Given the description of an element on the screen output the (x, y) to click on. 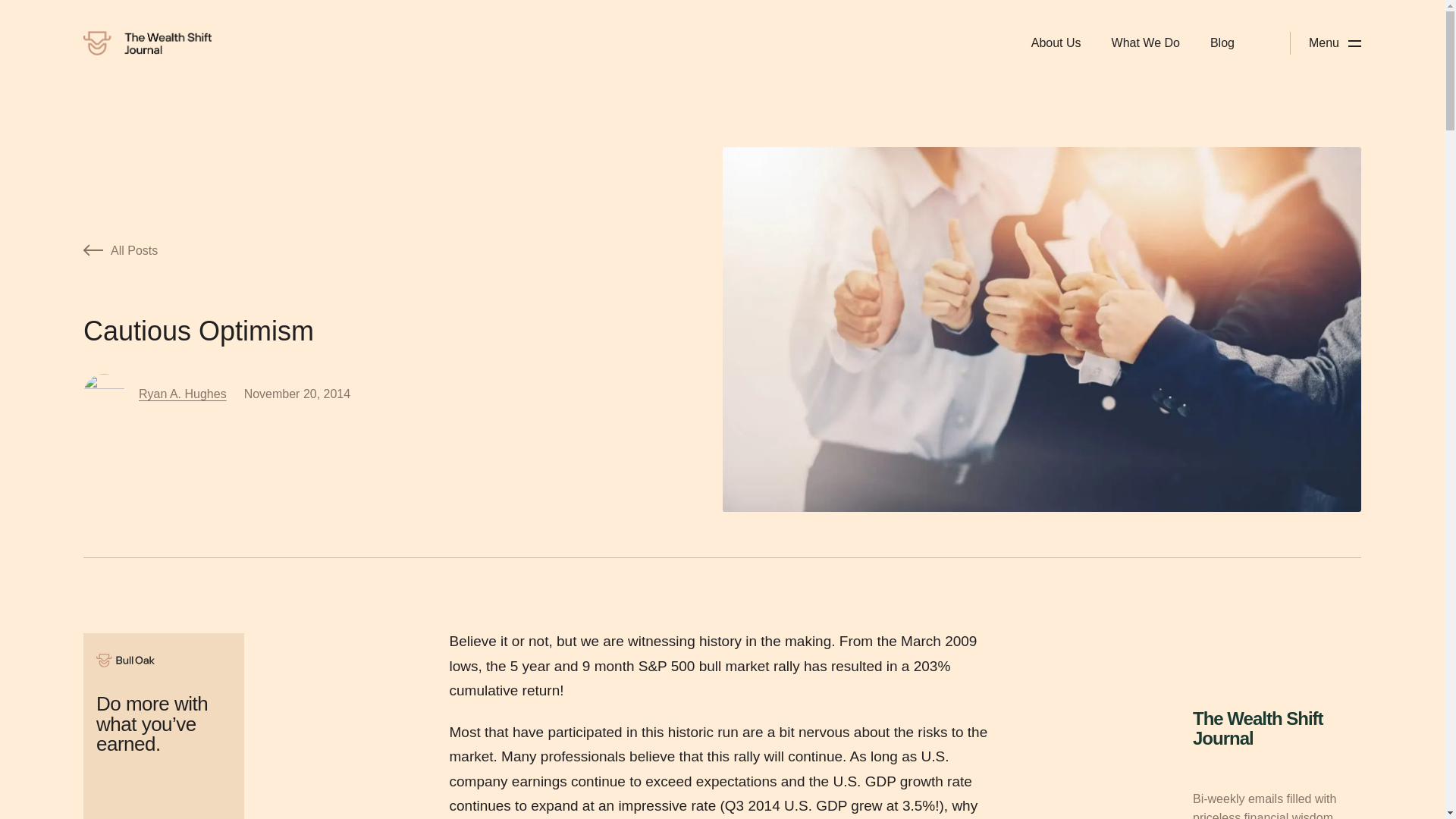
All Posts (352, 251)
About Us (1055, 42)
Ryan A. Hughes (182, 393)
What We Do (1145, 42)
Menu (1334, 42)
Blog (1221, 42)
